Given the description of an element on the screen output the (x, y) to click on. 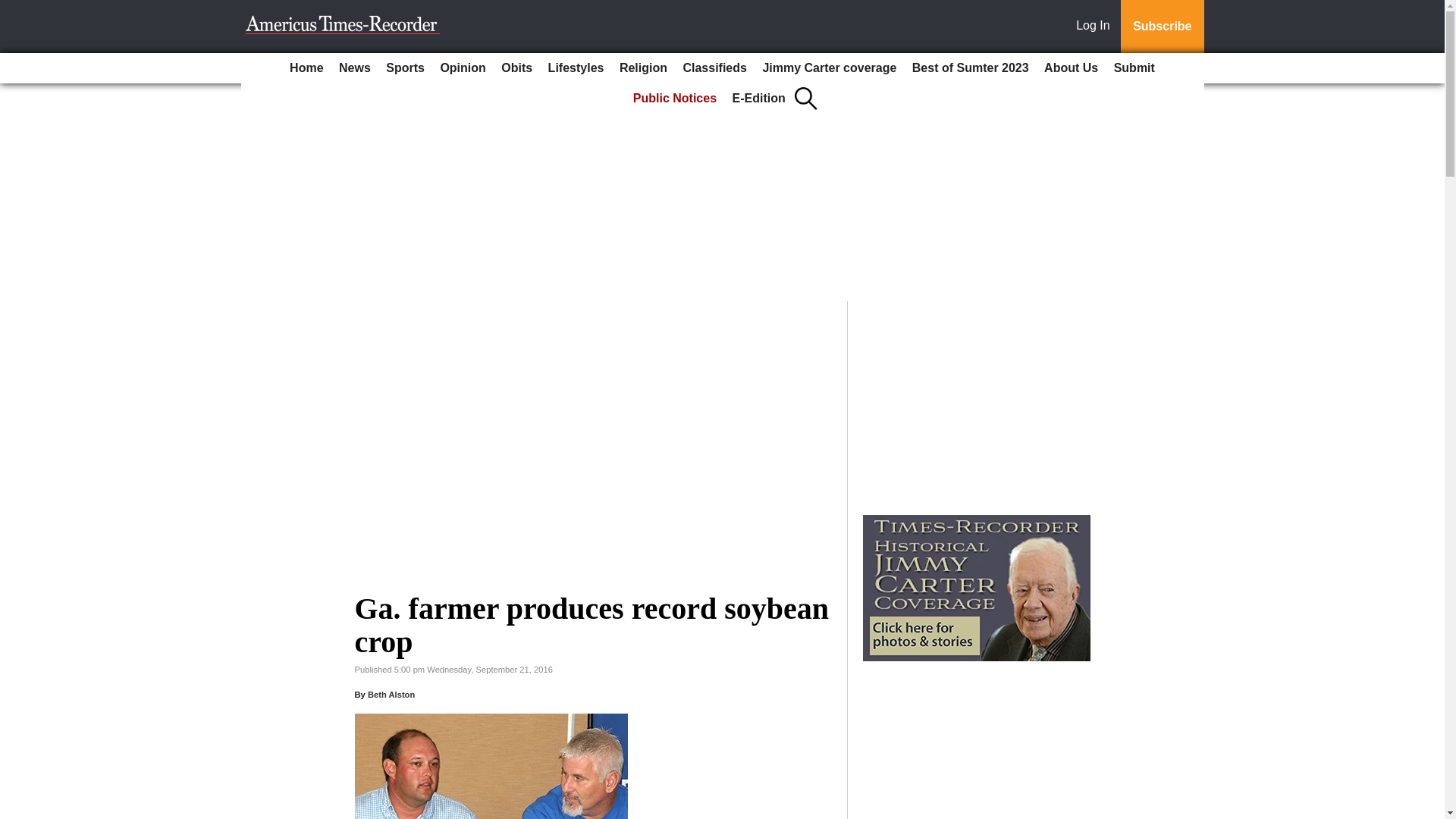
Public Notices (674, 98)
Go (13, 9)
Opinion (462, 68)
Classifieds (714, 68)
Beth Alston (391, 694)
Submit (1134, 68)
Jimmy Carter coverage (828, 68)
Obits (516, 68)
News (355, 68)
Home (306, 68)
About Us (1070, 68)
Log In (1095, 26)
Best of Sumter 2023 (970, 68)
Religion (642, 68)
E-Edition (759, 98)
